Given the description of an element on the screen output the (x, y) to click on. 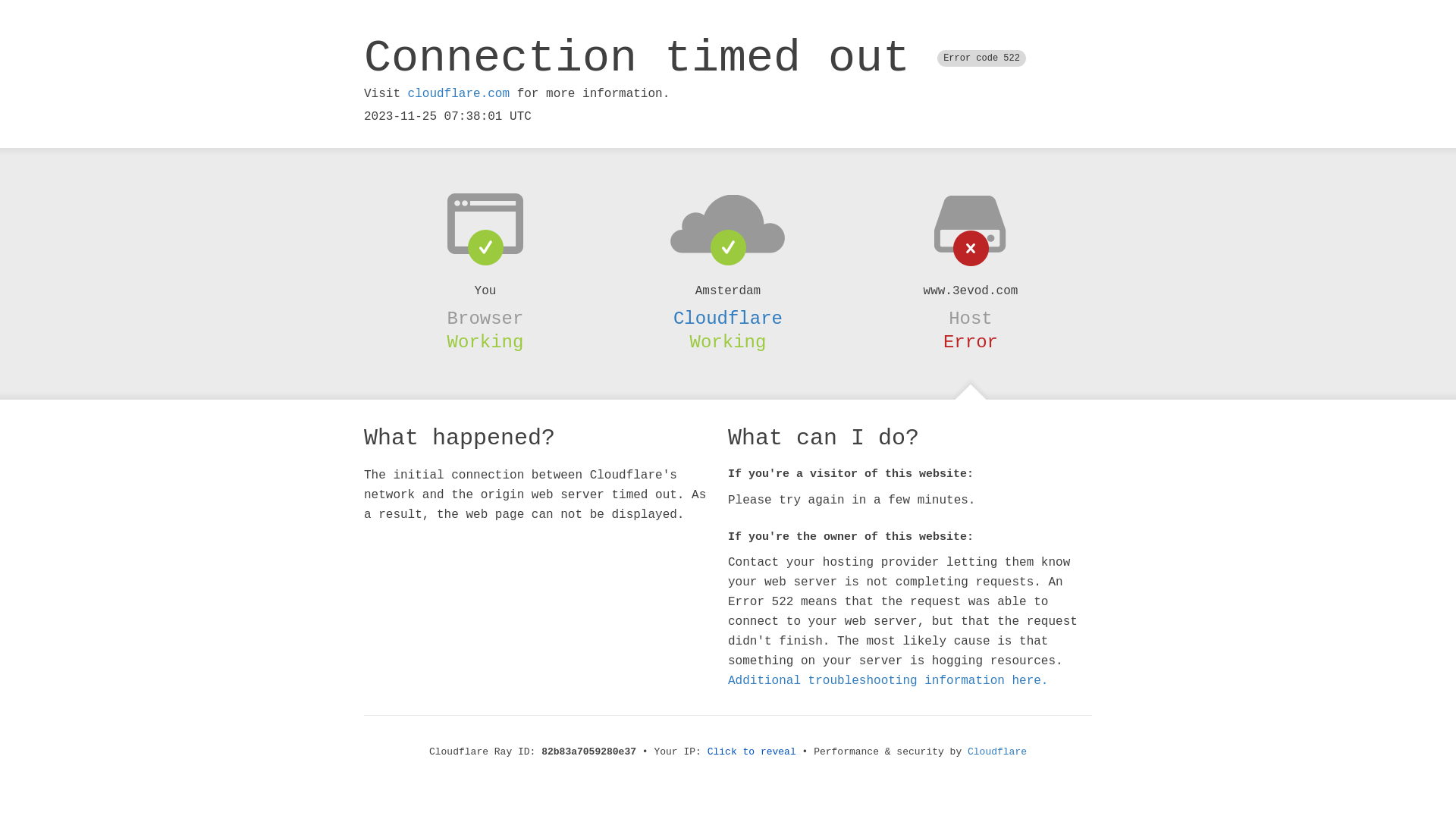
Cloudflare Element type: text (996, 751)
Cloudflare Element type: text (727, 318)
Click to reveal Element type: text (751, 751)
Additional troubleshooting information here. Element type: text (888, 680)
cloudflare.com Element type: text (458, 93)
